Given the description of an element on the screen output the (x, y) to click on. 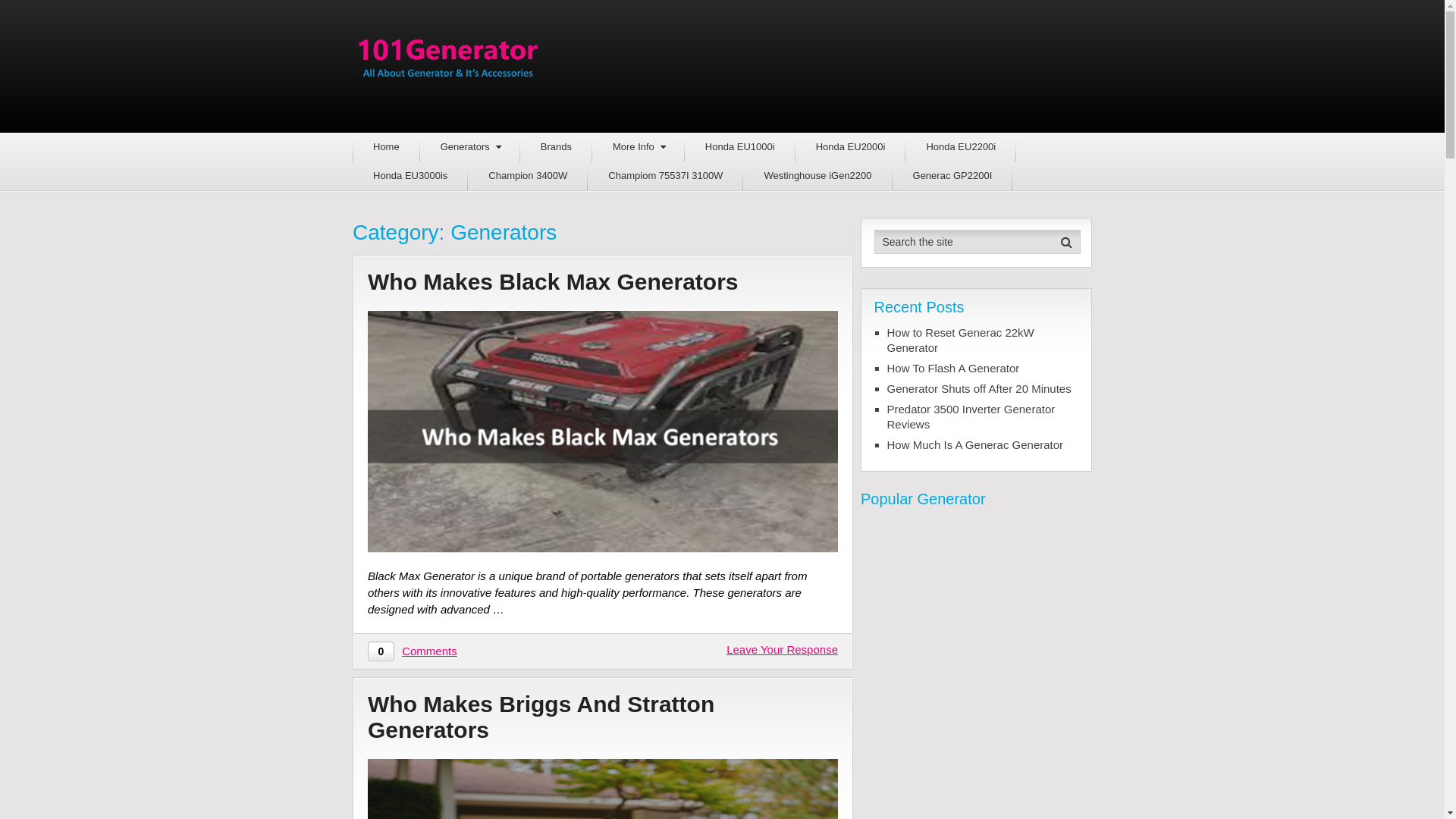
Who Makes Black Max Generators Element type: text (602, 282)
Comments Element type: text (429, 650)
More Info Element type: text (638, 146)
Honda EU2000i Element type: text (850, 146)
Who Makes Briggs And Stratton Generators Element type: text (602, 717)
Brands Element type: text (556, 146)
How To Flash A Generator Element type: text (983, 368)
Generators Element type: text (470, 146)
Generac GP2200I Element type: text (952, 175)
Honda EU2200i Element type: text (960, 146)
Honda EU1000i Element type: text (739, 146)
Leave Your Response Element type: text (781, 649)
Champiom 75537I 3100W Element type: text (665, 175)
Generator Shuts off After 20 Minutes Element type: text (983, 388)
Home Element type: text (386, 146)
Predator 3500 Inverter Generator Reviews Element type: text (983, 416)
Who Makes Black Max Generators Element type: hover (602, 431)
Honda EU3000is Element type: text (409, 175)
Westinghouse iGen2200 Element type: text (817, 175)
How to Reset Generac 22kW Generator Element type: text (983, 340)
Champion 3400W Element type: text (527, 175)
How Much Is A Generac Generator Element type: text (983, 444)
